Given the description of an element on the screen output the (x, y) to click on. 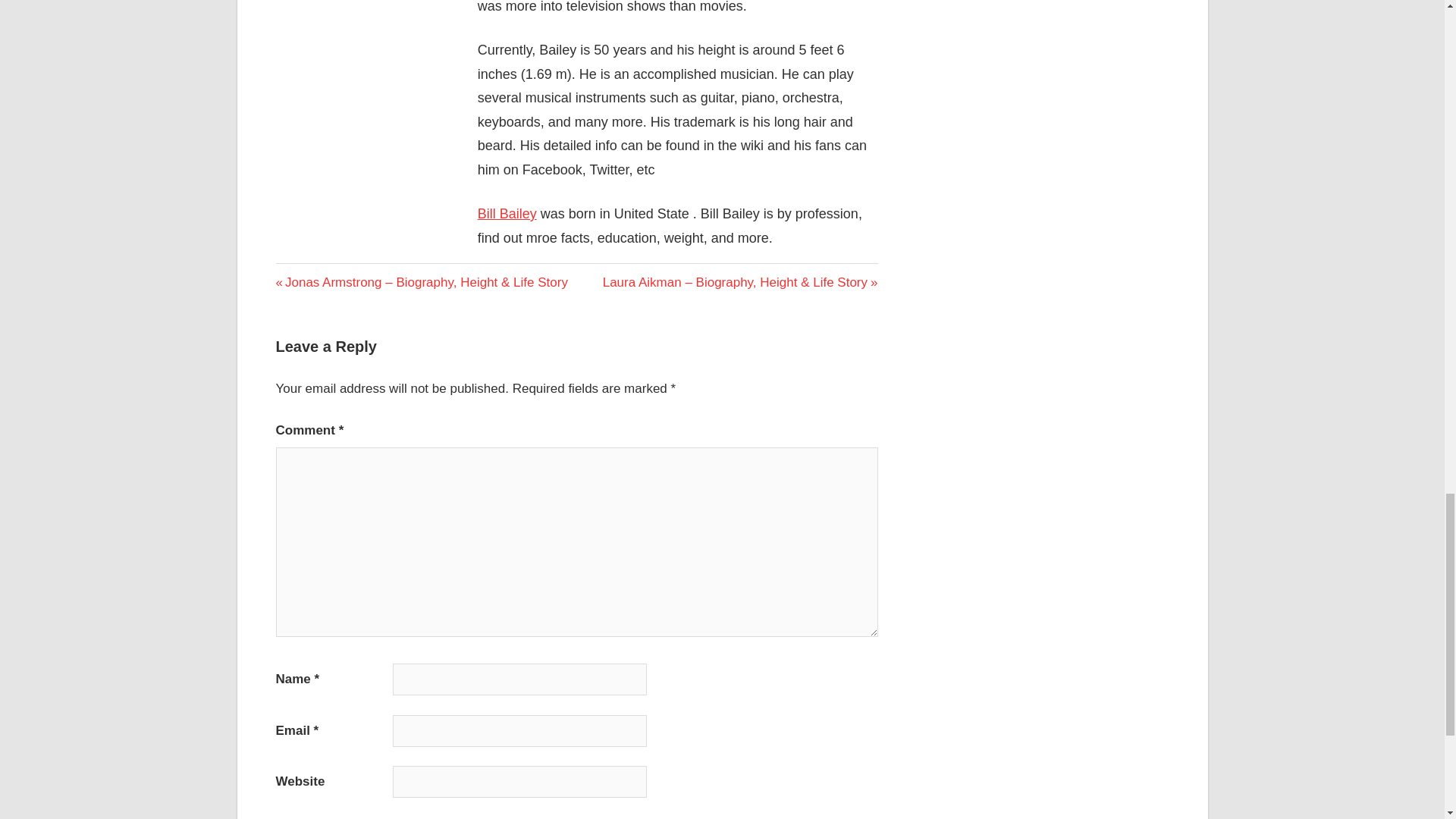
Bill Bailey (507, 213)
BIOGRAPHIES (321, 276)
BIO (289, 273)
